Given the description of an element on the screen output the (x, y) to click on. 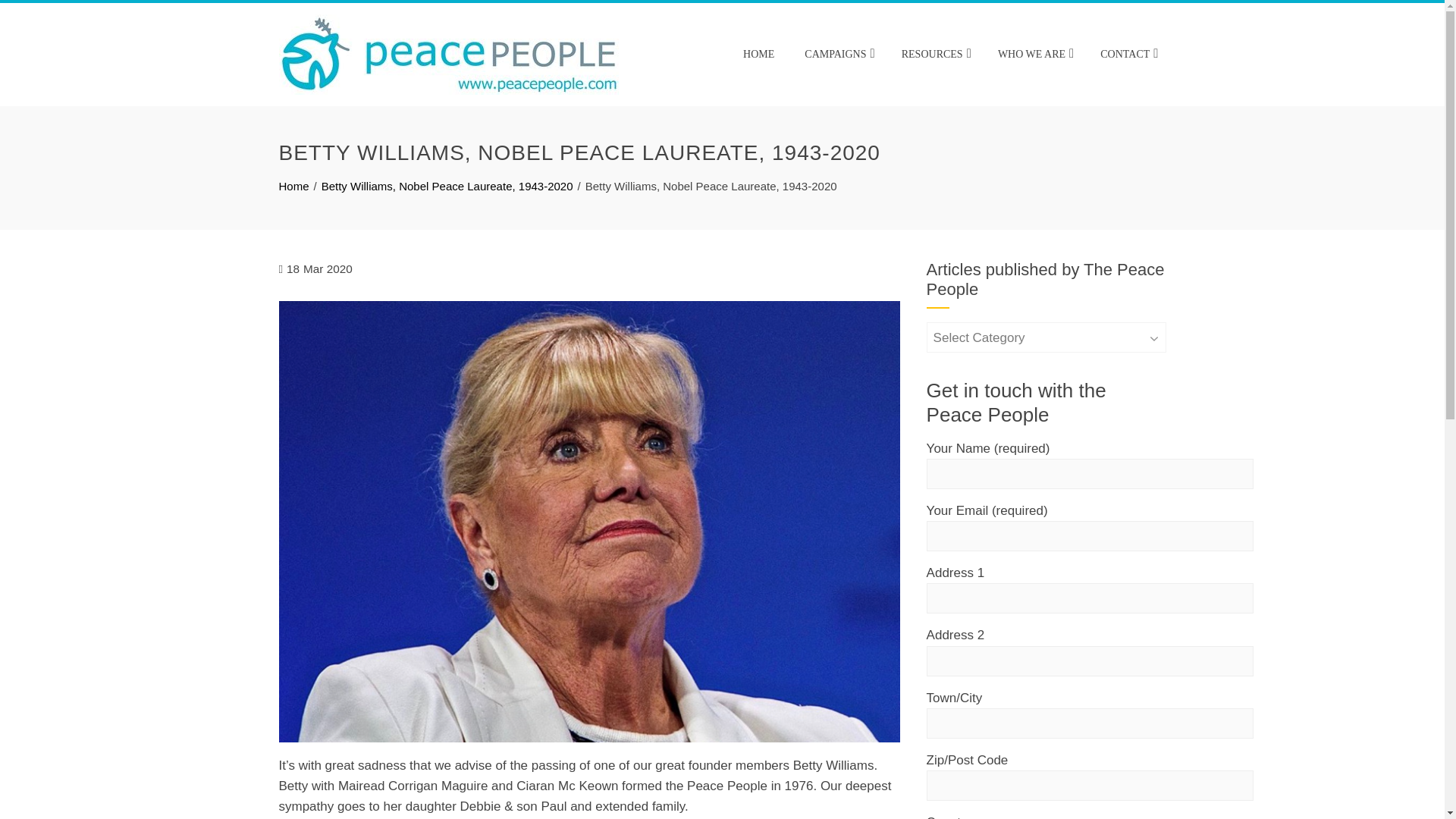
CONTACT (1127, 53)
Home (293, 185)
CAMPAIGNS (837, 53)
WHO WE ARE (1034, 53)
HOME (759, 53)
RESOURCES (933, 53)
Betty Williams, Nobel Peace Laureate, 1943-2020 (447, 185)
